Given the description of an element on the screen output the (x, y) to click on. 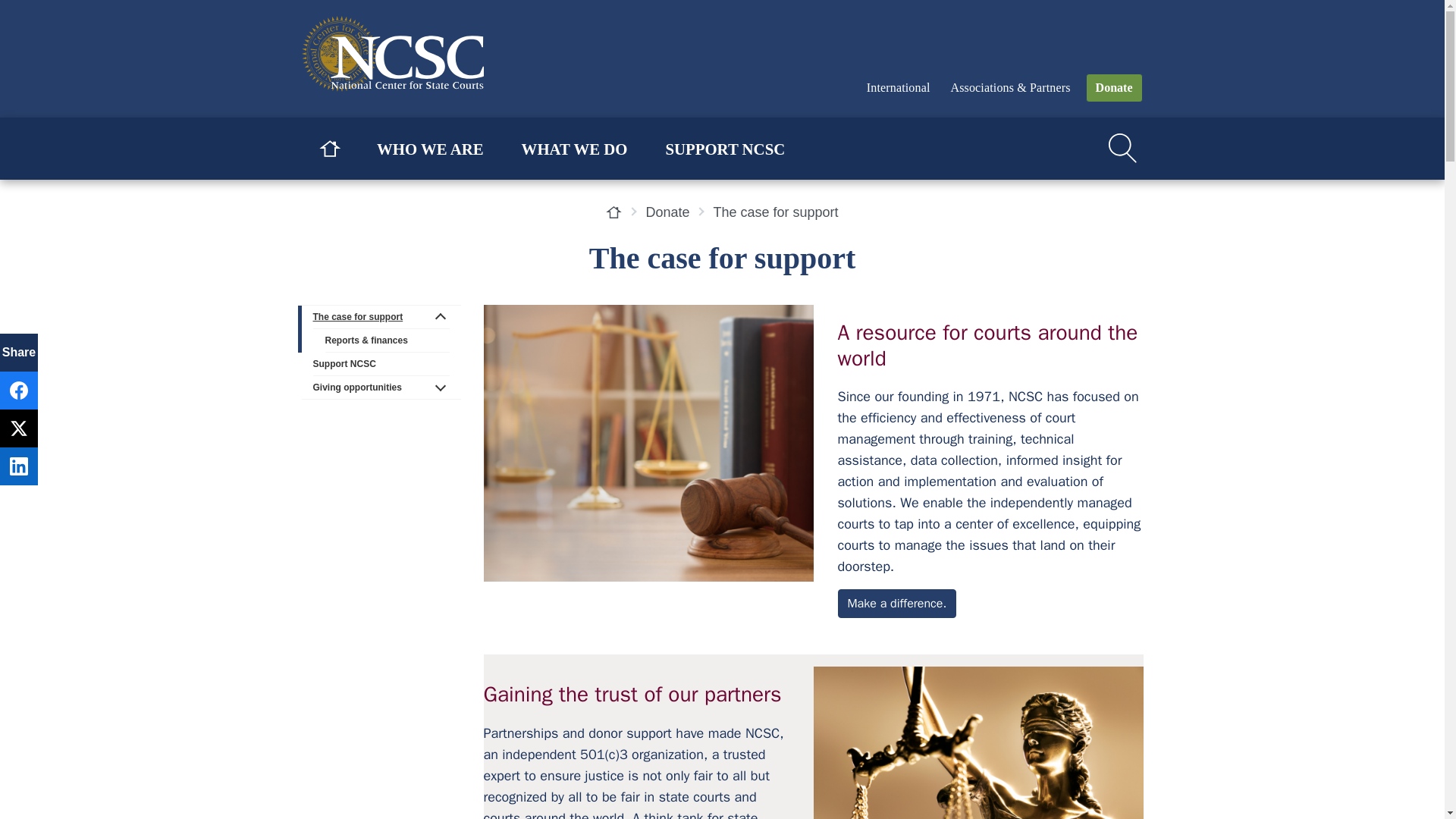
Site Logo (415, 53)
HOME (329, 148)
